Given the description of an element on the screen output the (x, y) to click on. 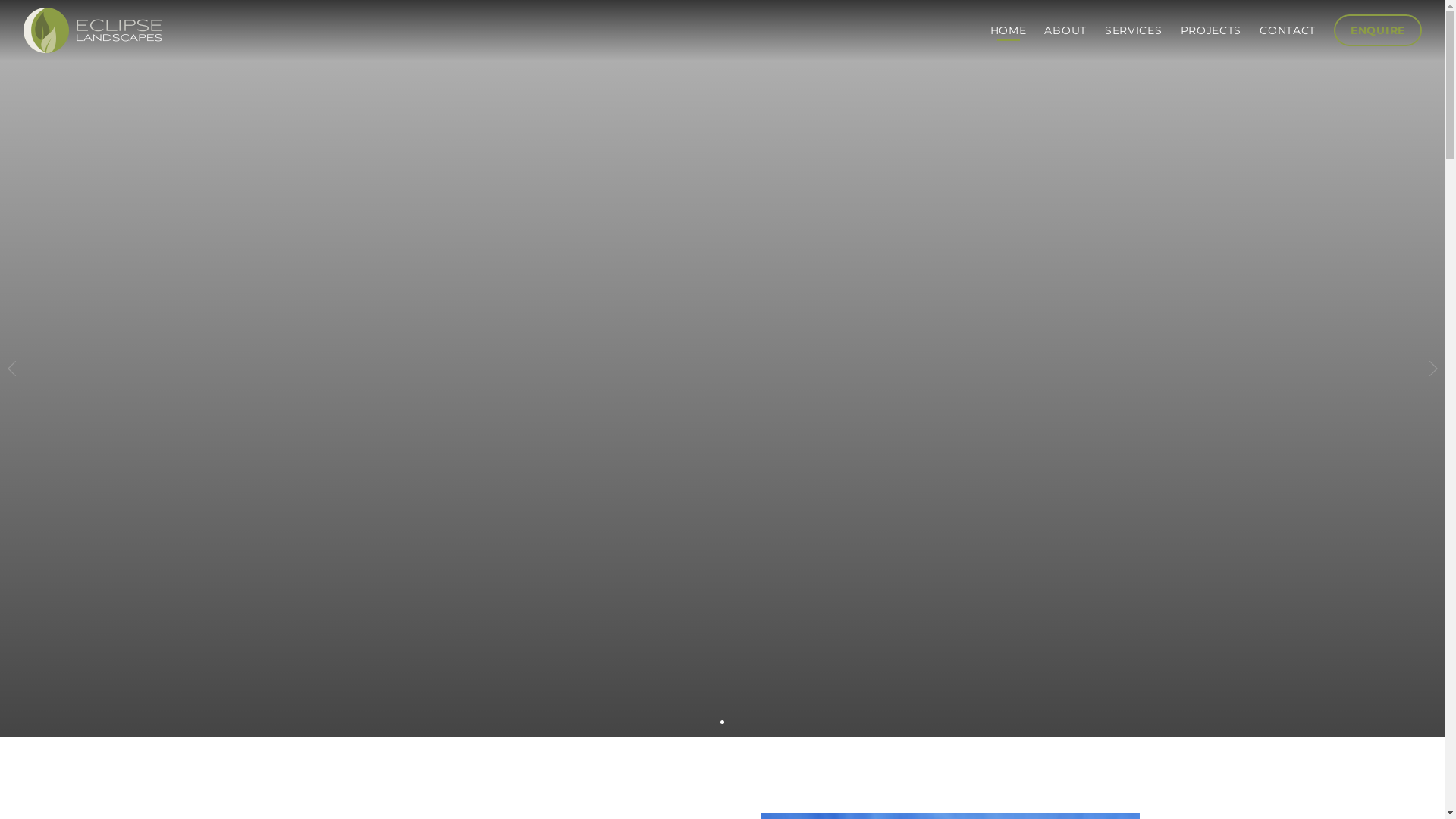
HOME Element type: text (1008, 29)
ABOUT Element type: text (1065, 29)
SERVICES Element type: text (1133, 29)
ENQUIRE Element type: text (1377, 30)
PROJECTS Element type: text (1211, 29)
CONTACT Element type: text (1287, 29)
